Given the description of an element on the screen output the (x, y) to click on. 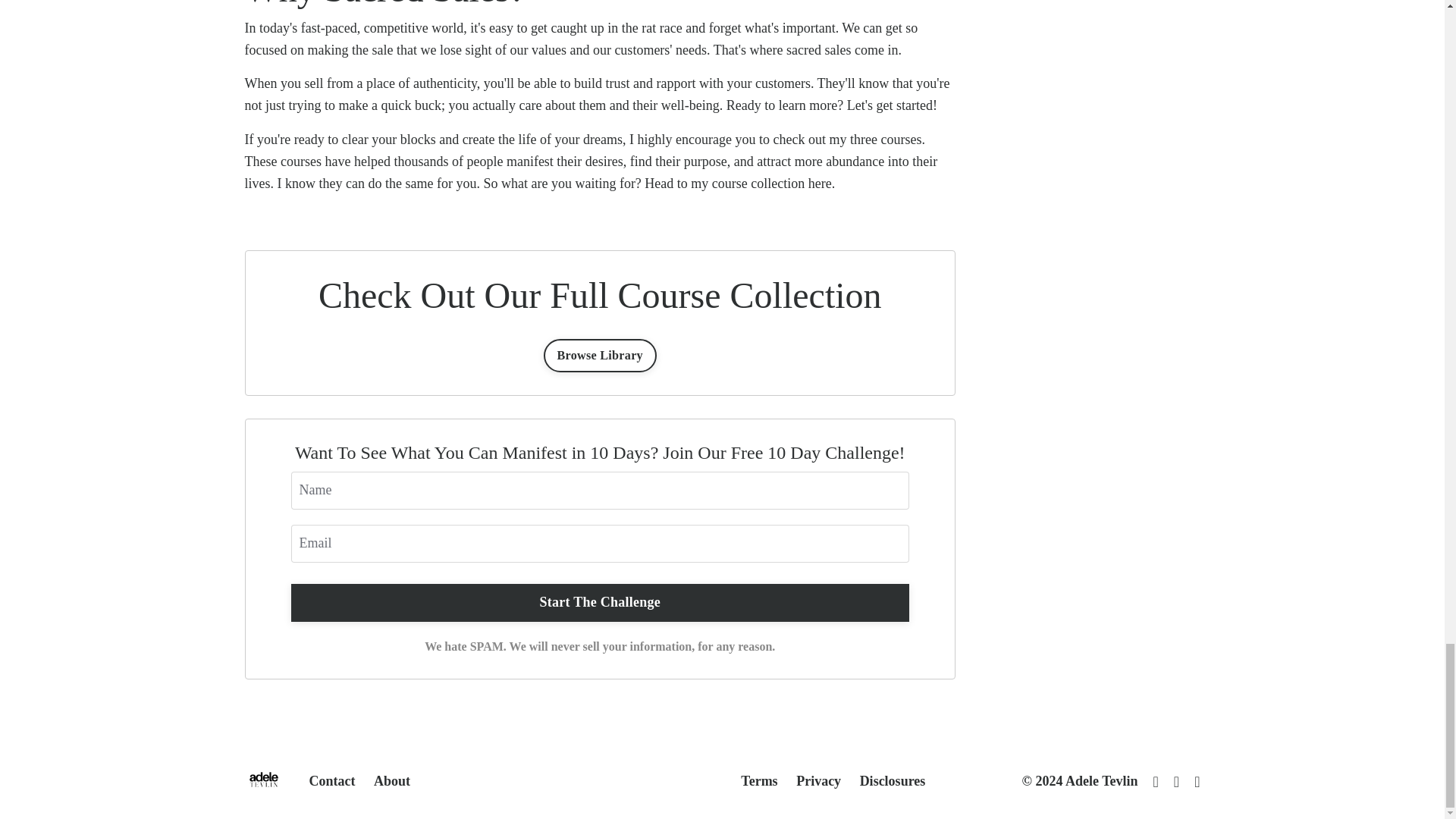
Start The Challenge (600, 602)
Terms (759, 780)
Contact (331, 780)
About (392, 780)
Disclosures (893, 780)
Start The Challenge (600, 602)
here (819, 183)
Let's get started! (892, 105)
Browse Library (599, 355)
Privacy (818, 780)
